Given the description of an element on the screen output the (x, y) to click on. 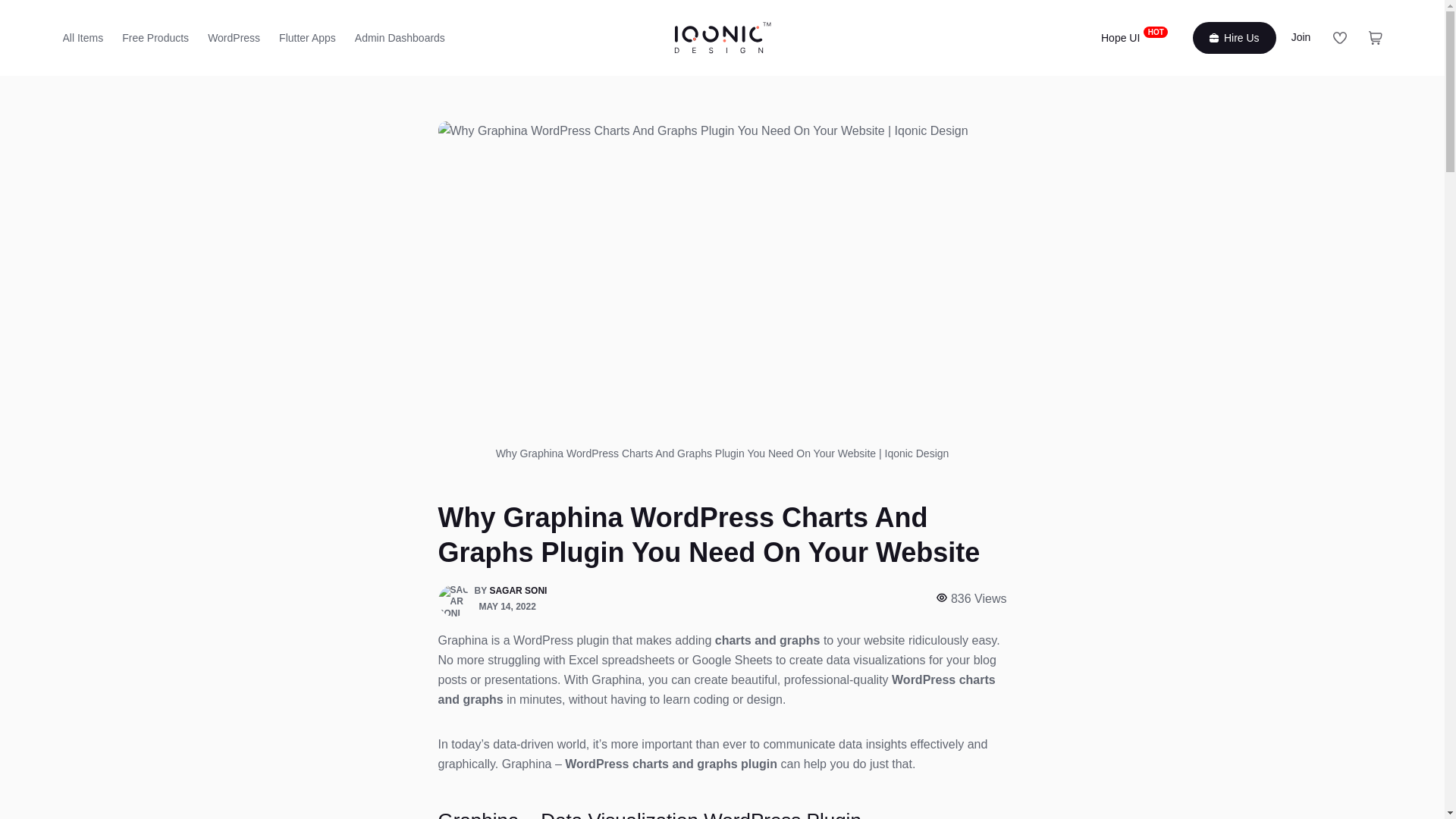
Hire Us (1234, 38)
SAGAR SONI (518, 591)
Flutter Apps (307, 38)
Posts by Sagar Soni (518, 591)
All Items (87, 38)
Join (1304, 36)
WordPress (233, 38)
Skip to content (15, 7)
Free Products (1133, 38)
Admin Dashboards (155, 38)
